Given the description of an element on the screen output the (x, y) to click on. 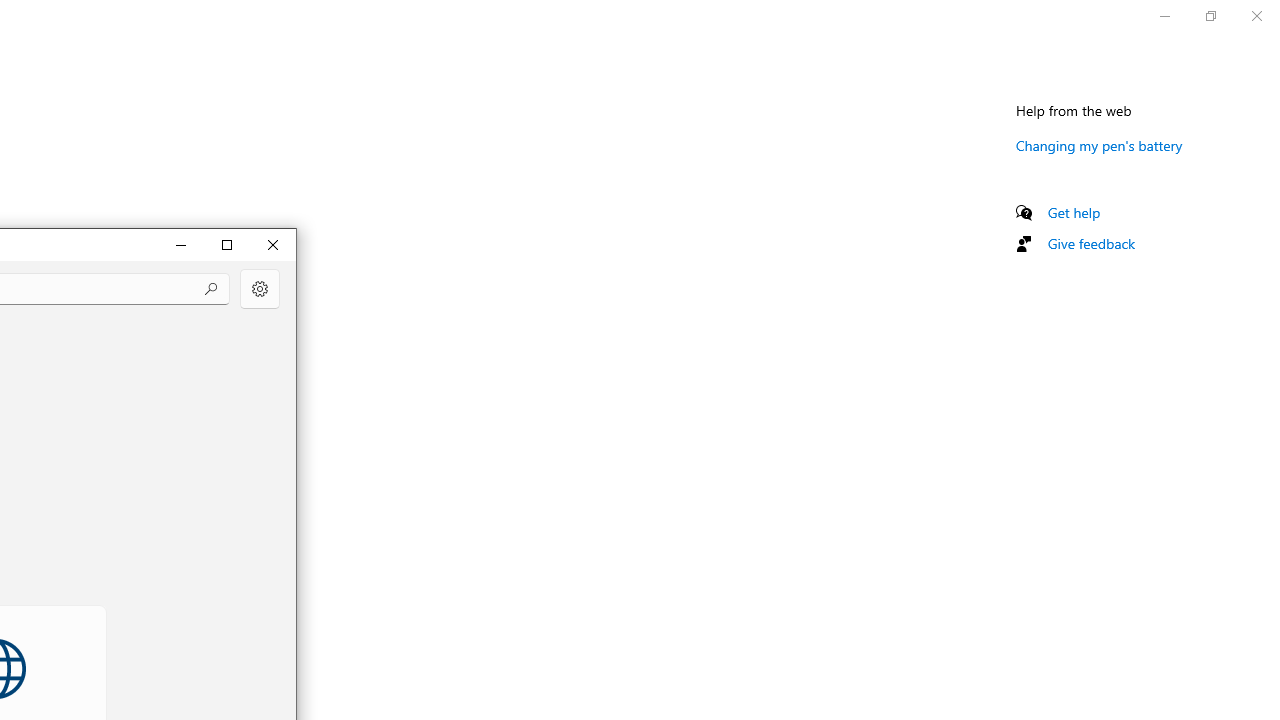
Maximize Tips (226, 244)
Minimize Tips (180, 244)
Close Tips (272, 244)
Settings (260, 288)
